Given the description of an element on the screen output the (x, y) to click on. 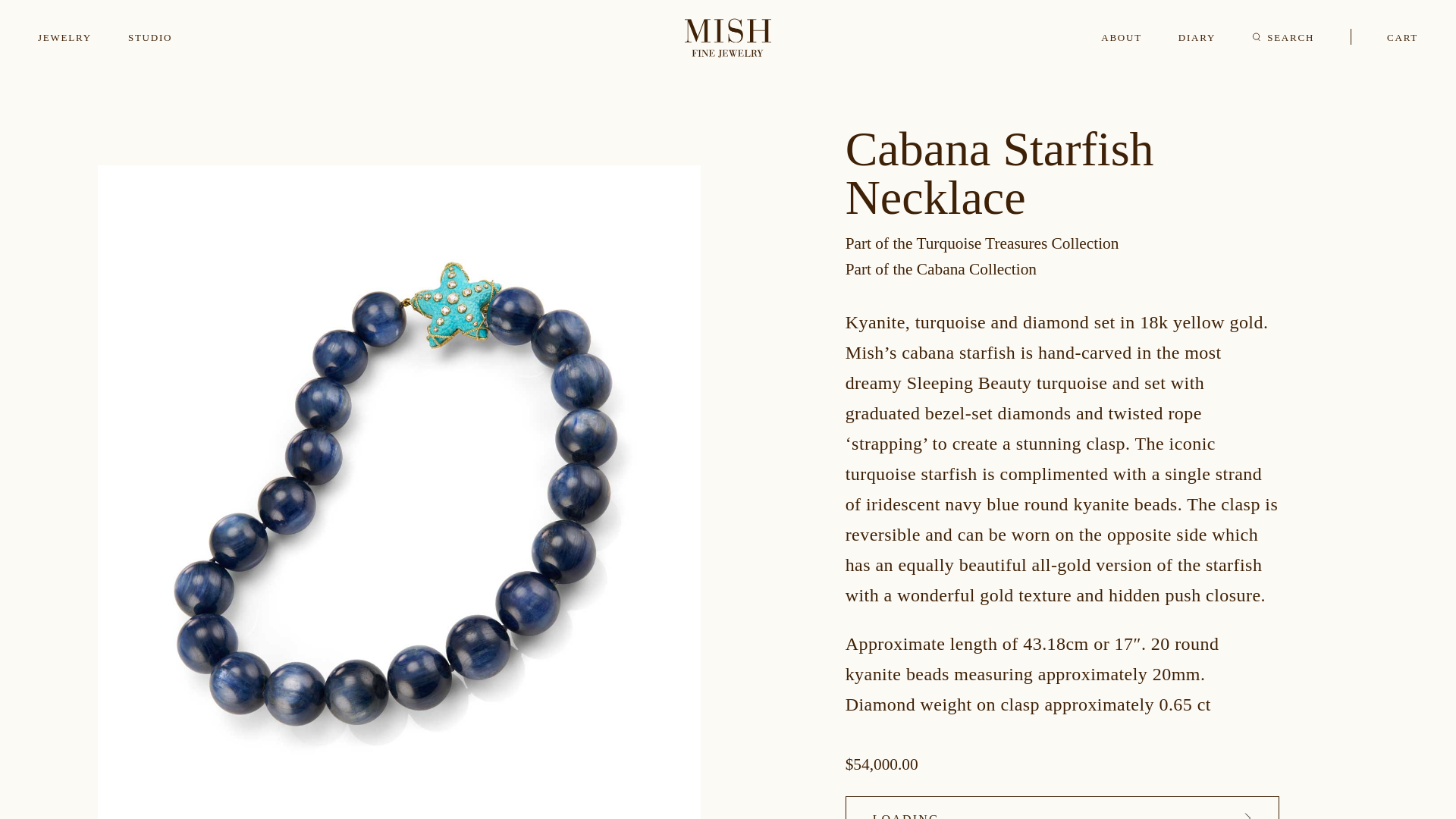
STUDIO (149, 37)
CART (1402, 37)
DIARY (1196, 37)
JEWELRY (64, 37)
SEARCH (1283, 37)
ABOUT (1120, 37)
